Given the description of an element on the screen output the (x, y) to click on. 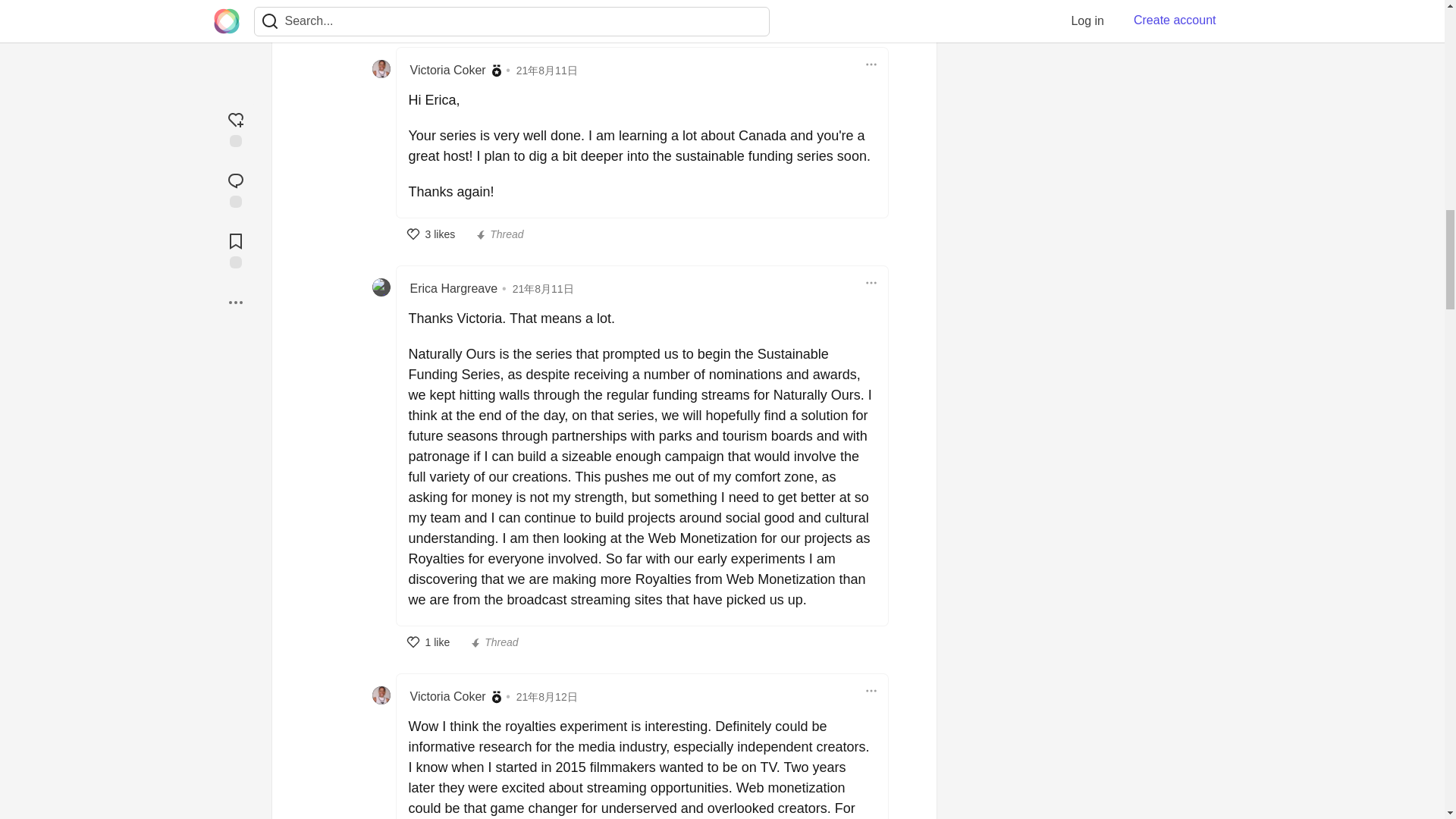
Dropdown menu (870, 690)
Dropdown menu (870, 282)
Dropdown menu (870, 64)
